Given the description of an element on the screen output the (x, y) to click on. 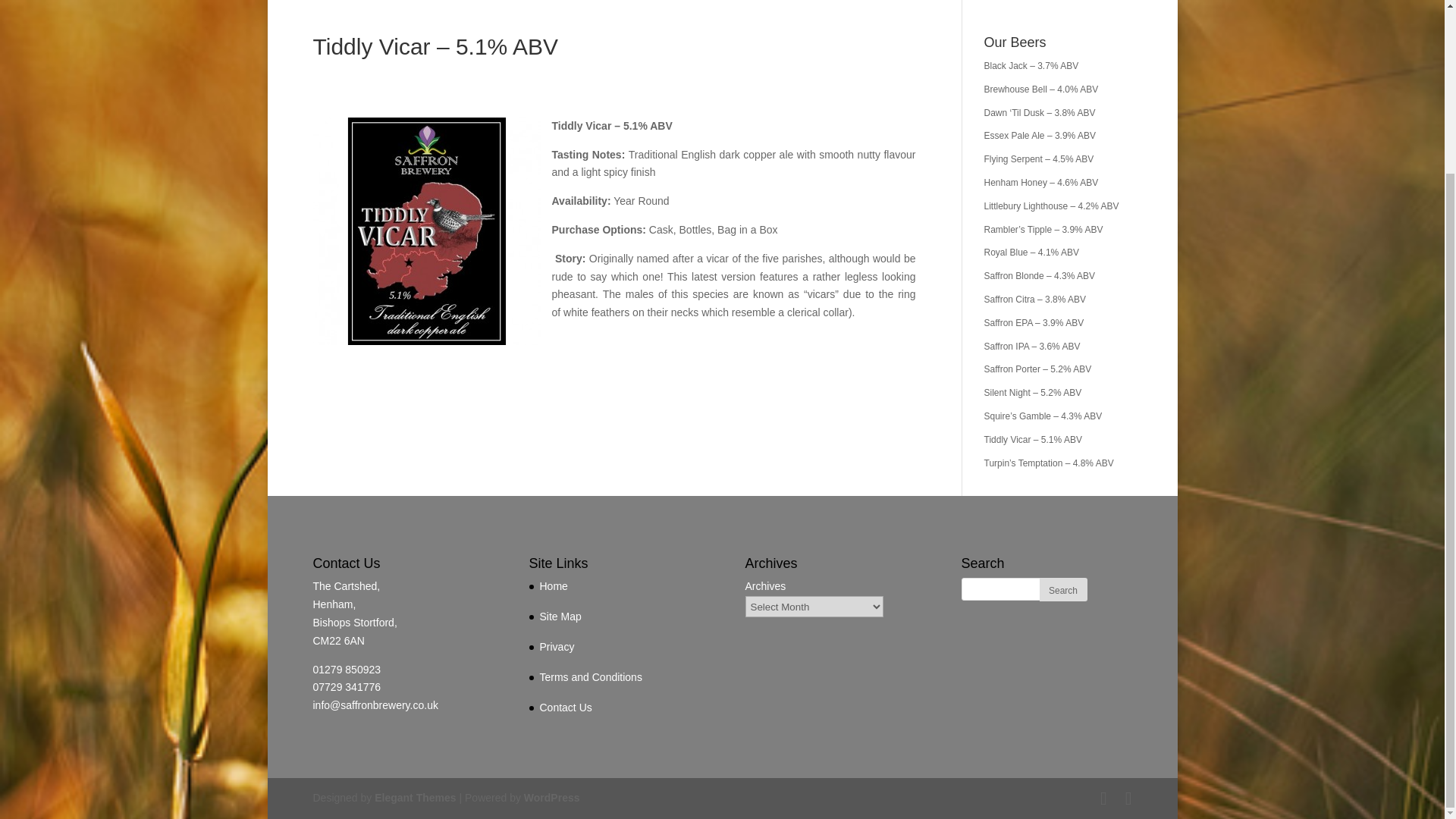
Search (1062, 589)
